Given the description of an element on the screen output the (x, y) to click on. 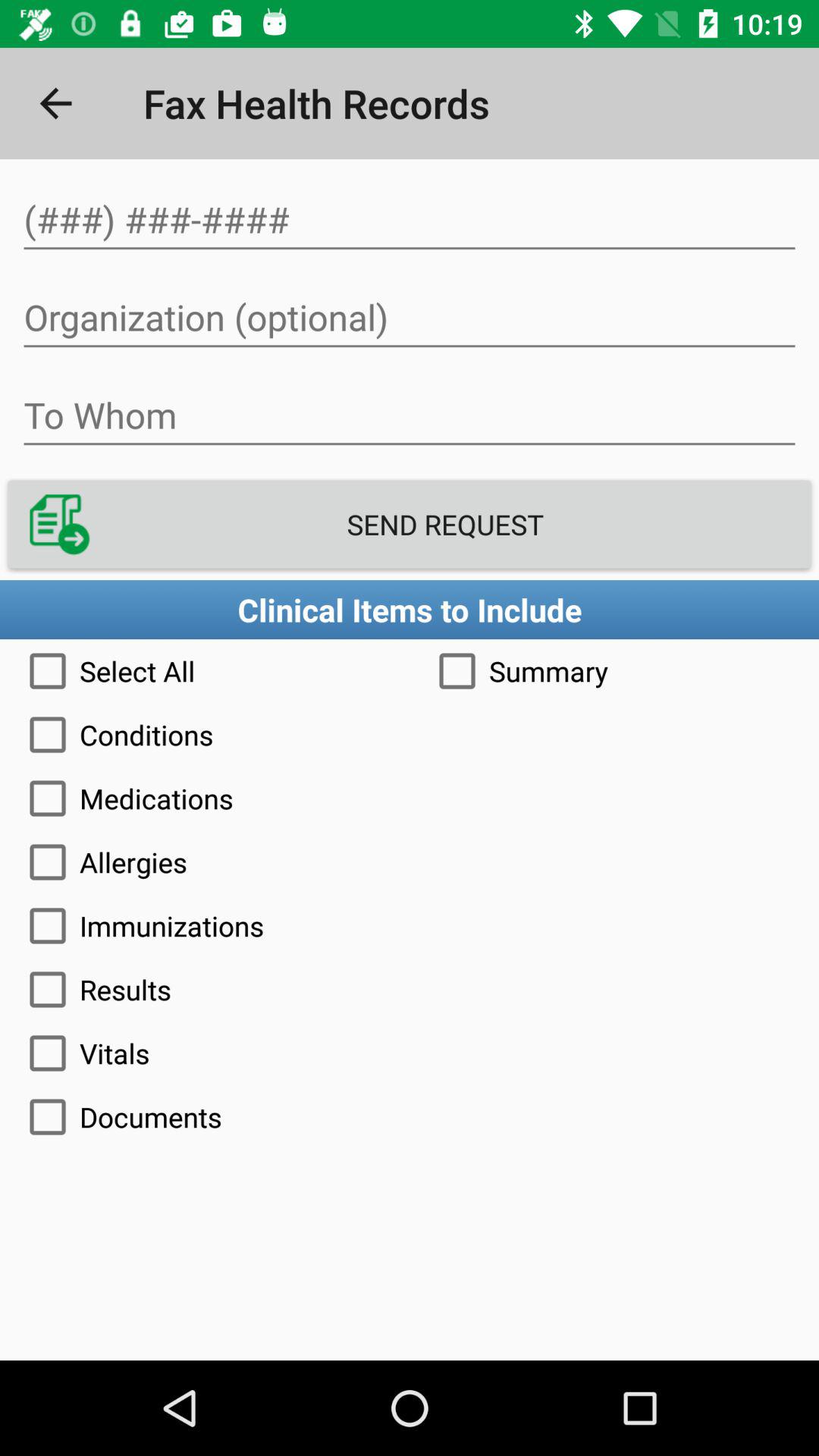
search in item (409, 220)
